Given the description of an element on the screen output the (x, y) to click on. 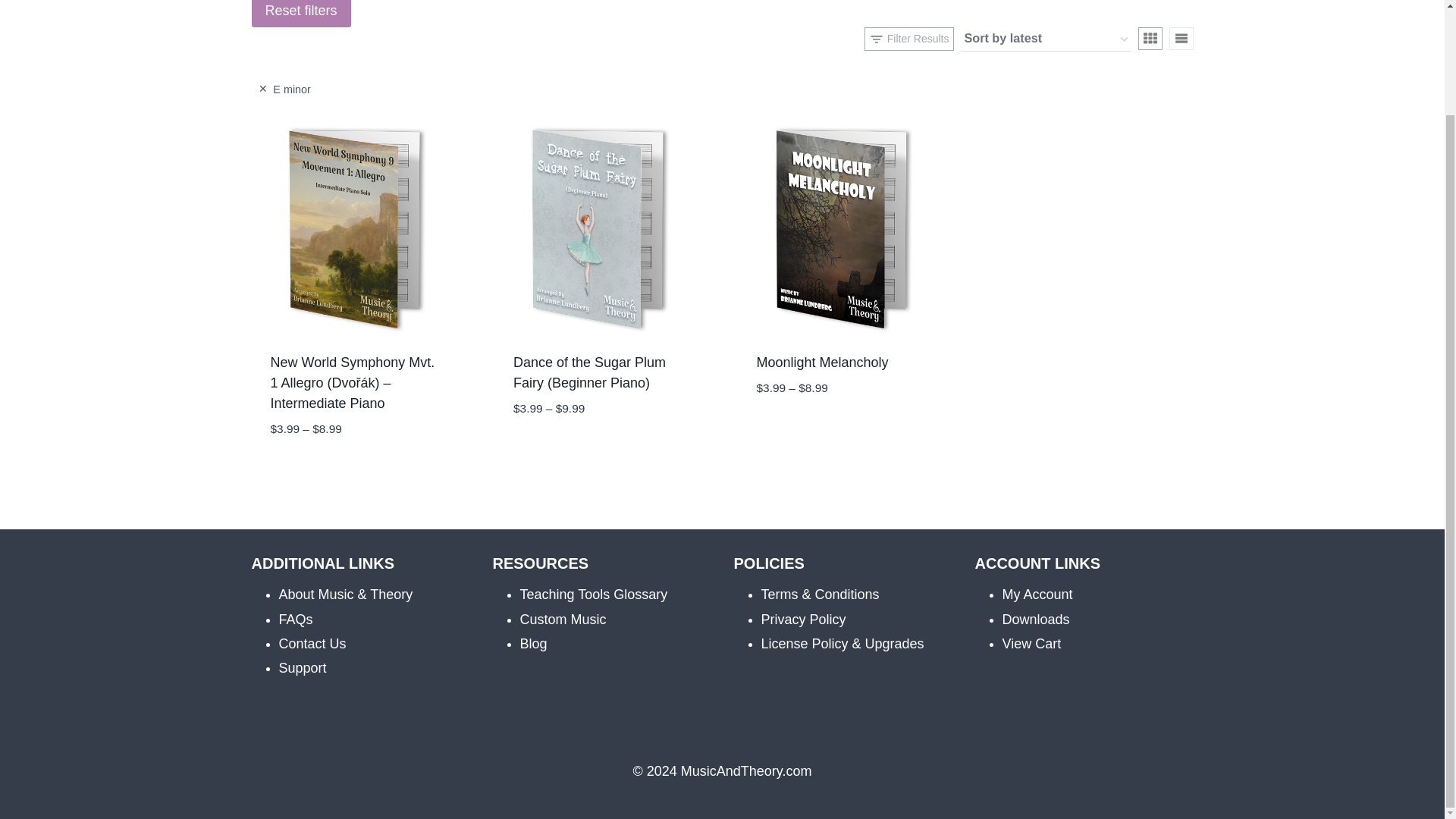
Reset filters (300, 13)
List View (1181, 38)
Grid View (1149, 38)
